Given the description of an element on the screen output the (x, y) to click on. 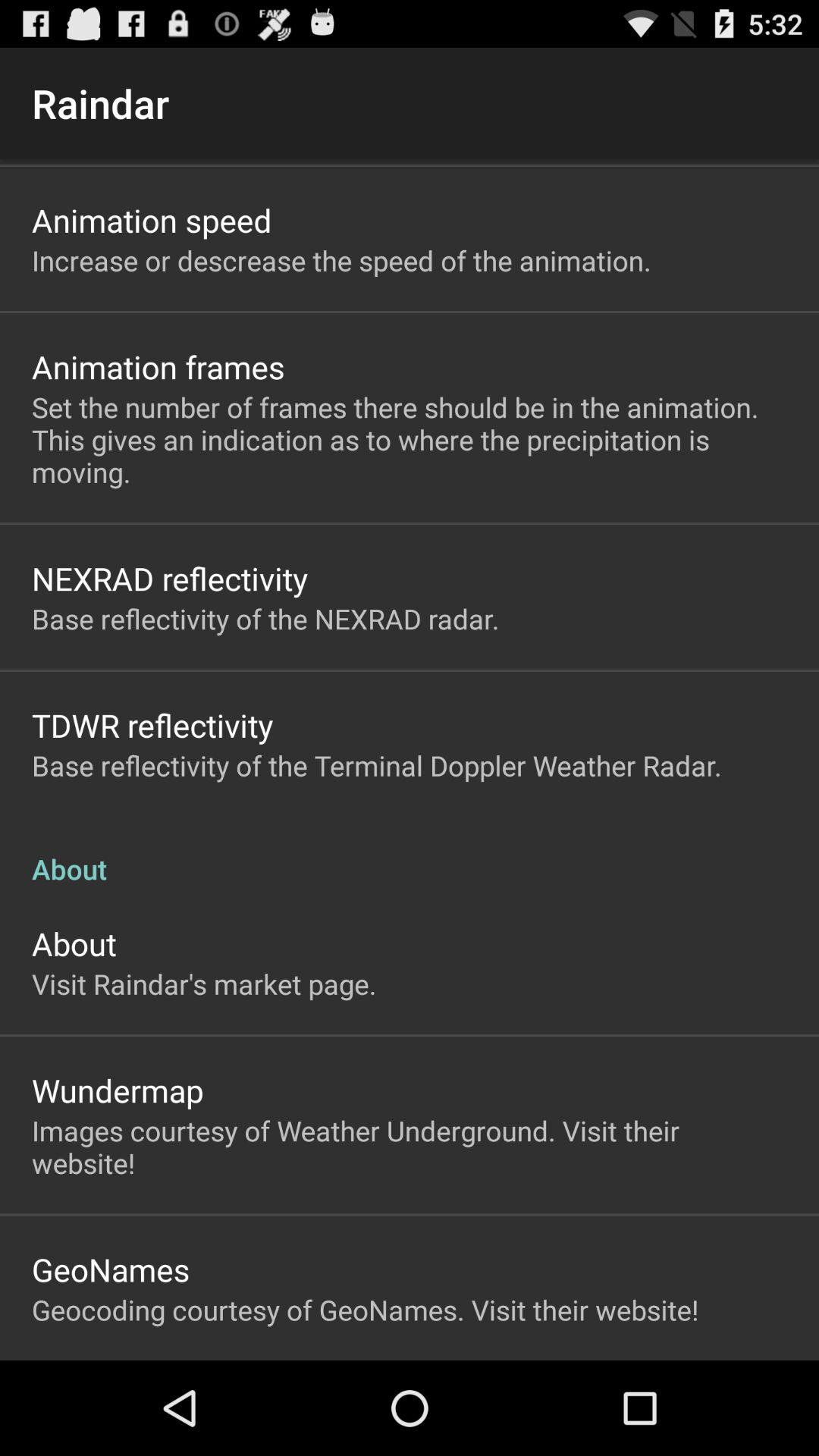
scroll until increase or descrease (341, 260)
